Given the description of an element on the screen output the (x, y) to click on. 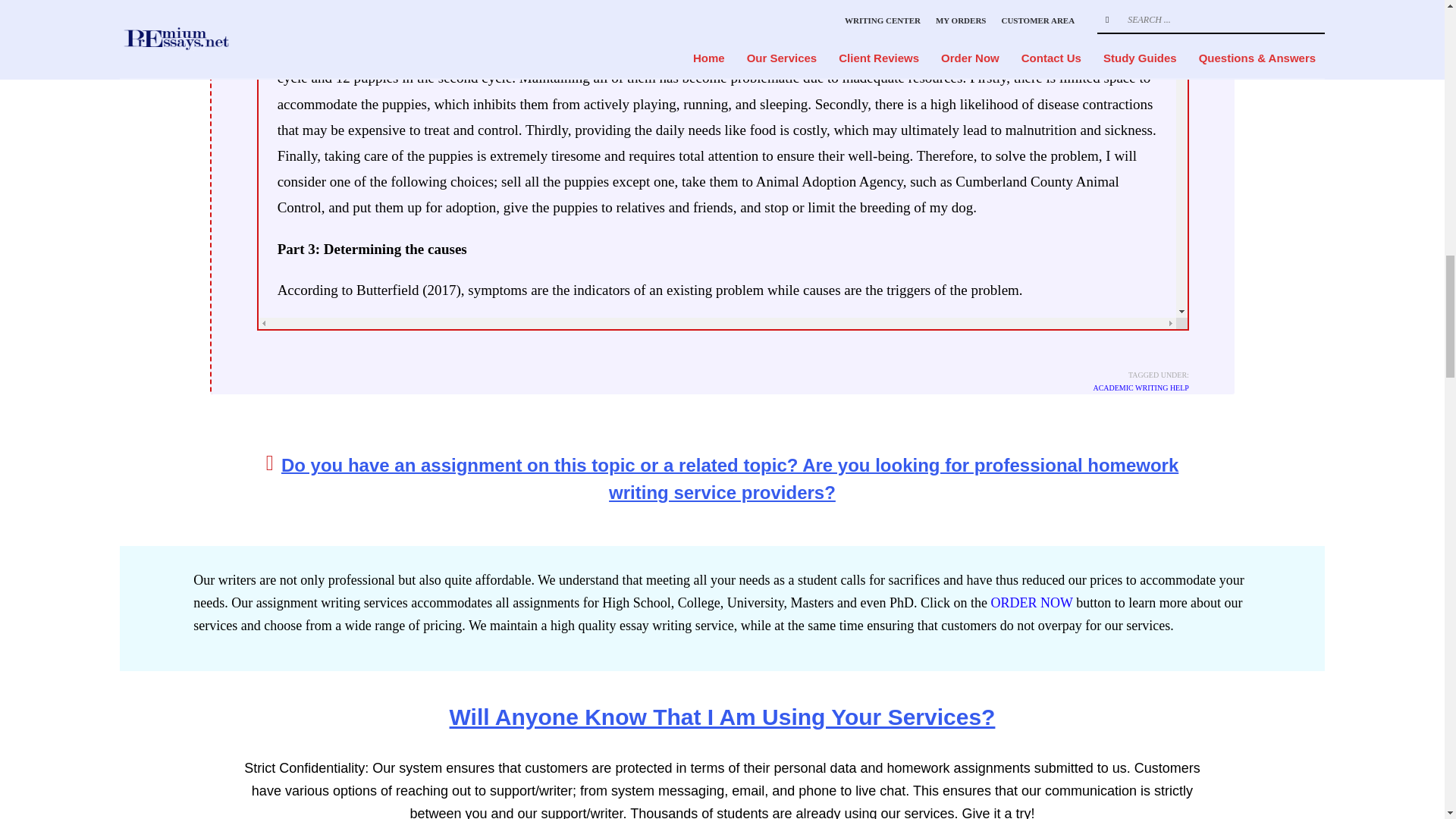
ORDER NOW (1030, 602)
ACADEMIC WRITING HELP (1140, 388)
